Given the description of an element on the screen output the (x, y) to click on. 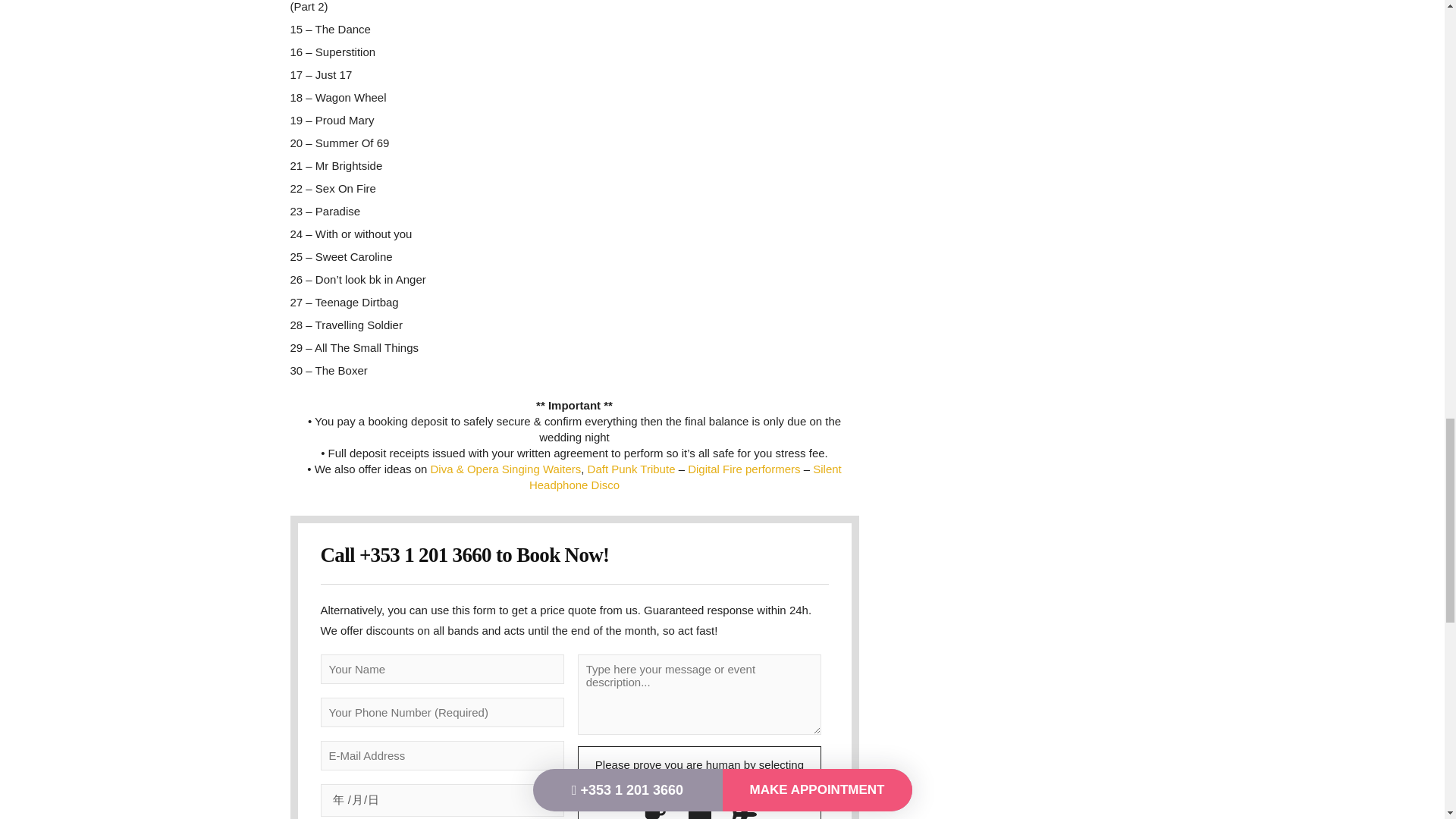
Silent Headphone Disco (685, 476)
Daft Punk Tribute (631, 468)
Digital Fire performers (743, 468)
